Given the description of an element on the screen output the (x, y) to click on. 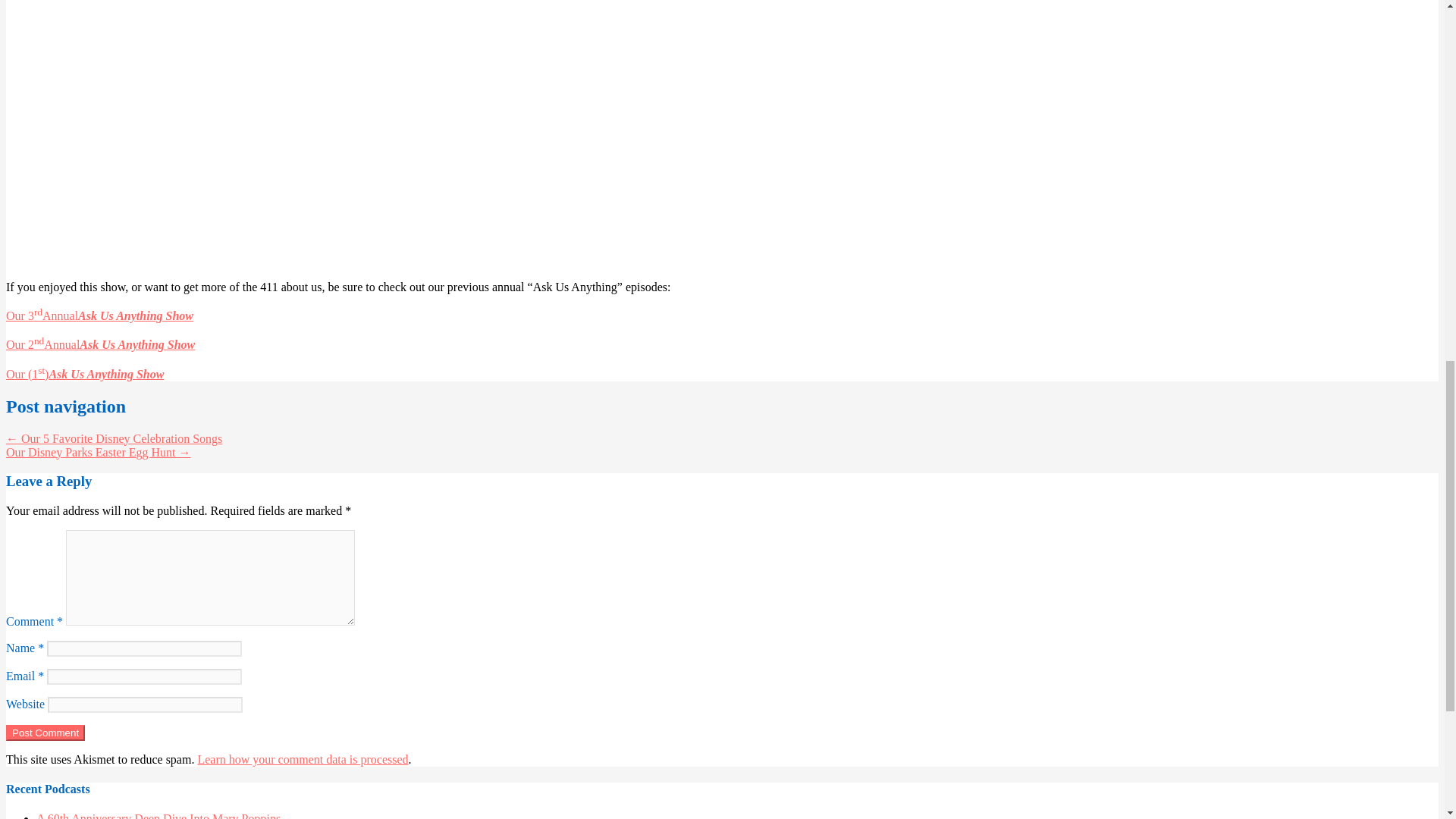
Our 2ndAnnualAsk Us Anything Show (100, 344)
Learn how your comment data is processed (301, 758)
Post Comment (44, 732)
Post Comment (44, 732)
A 60th Anniversary Deep Dive Into Mary Poppins (158, 815)
Our 4th Annual Ask Us Anything Show (721, 132)
Our 3rdAnnualAsk Us Anything Show (99, 315)
